Given the description of an element on the screen output the (x, y) to click on. 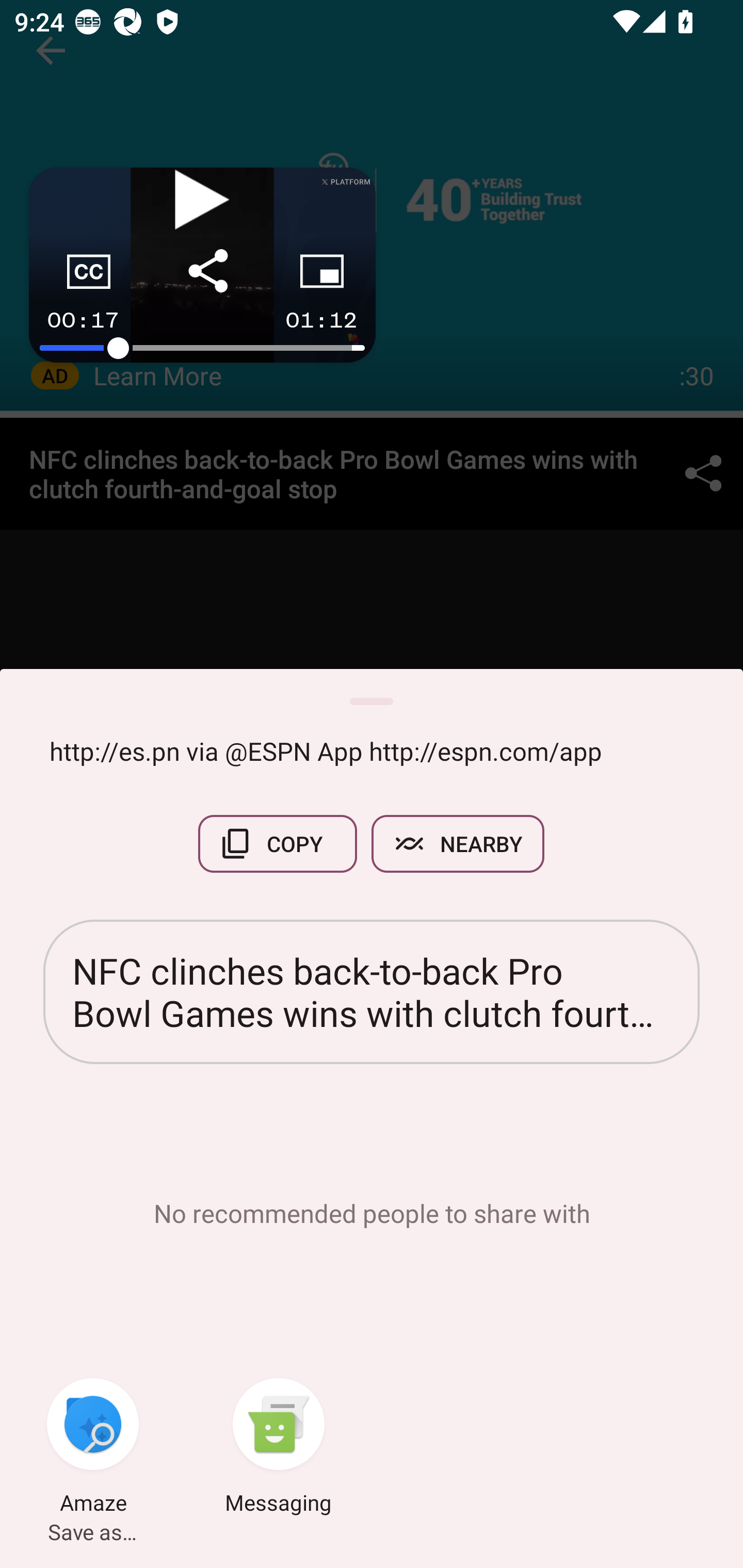
COPY (277, 844)
NEARBY (457, 844)
Amaze Save as… (92, 1448)
Messaging (278, 1448)
